Given the description of an element on the screen output the (x, y) to click on. 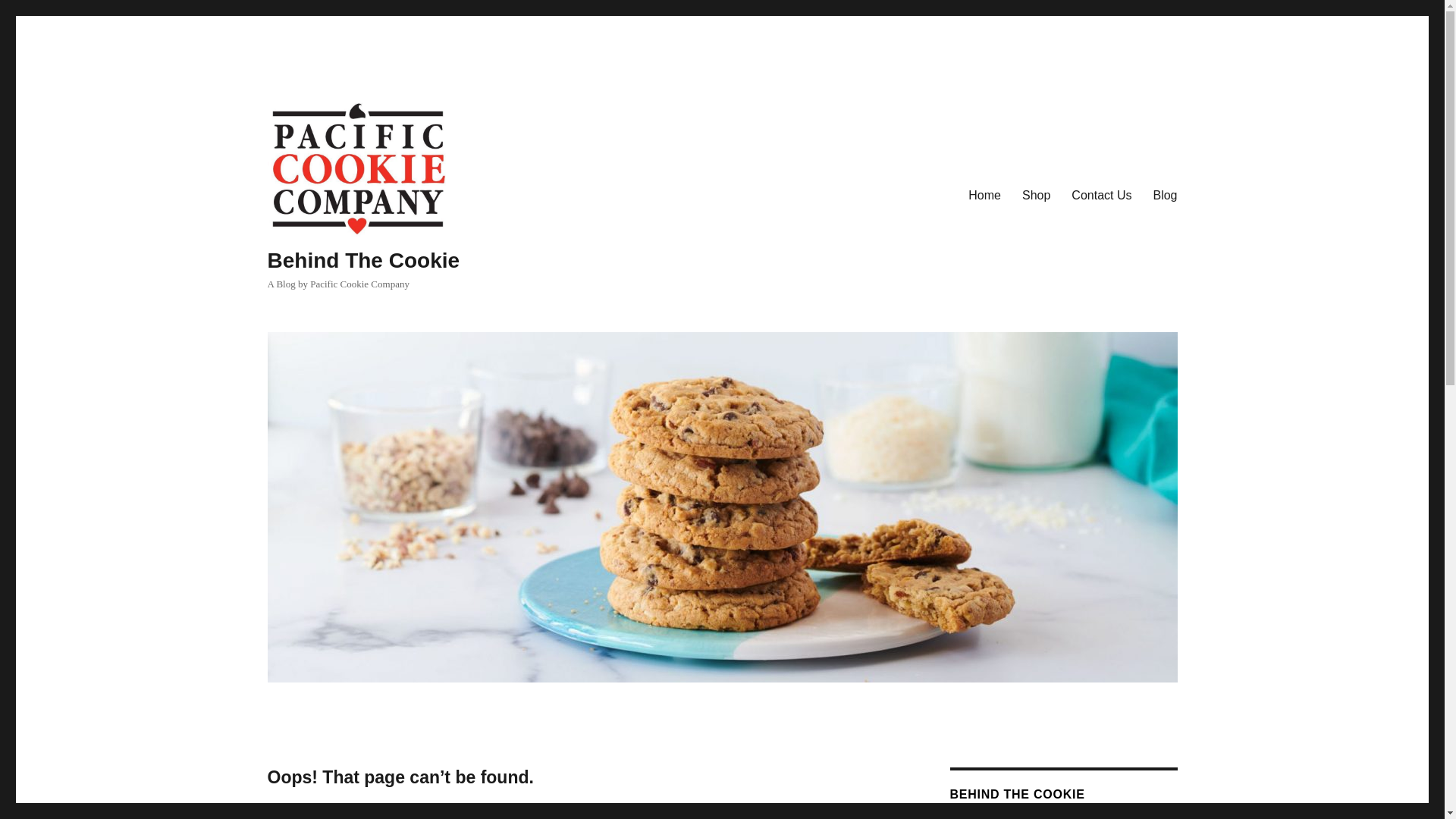
Shop (1036, 194)
Shop (1036, 194)
Blog (1164, 194)
Behind The Cookie (363, 259)
Home (984, 194)
Contact Us (1101, 194)
